Given the description of an element on the screen output the (x, y) to click on. 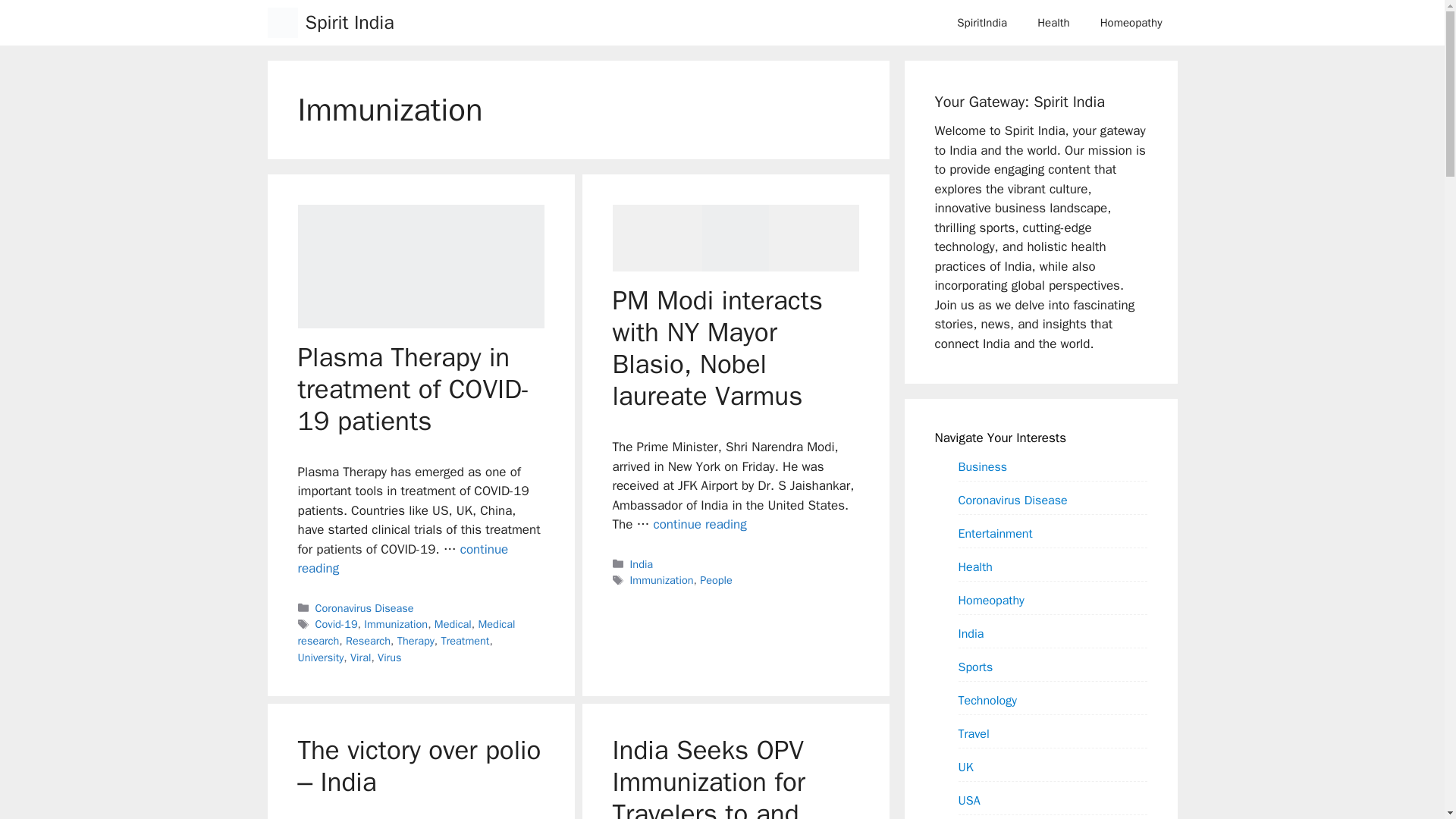
Homeopathy (1130, 22)
Covid-19 (336, 623)
Virus (389, 657)
Viral (360, 657)
Immunization (396, 623)
People (716, 580)
Research (368, 640)
continue reading (402, 559)
Spirit India (348, 22)
Medical (452, 623)
University (320, 657)
Plasma Therapy in treatment of COVID-19 patients (402, 559)
Coronavirus Disease (364, 608)
Treatment (465, 640)
